Given the description of an element on the screen output the (x, y) to click on. 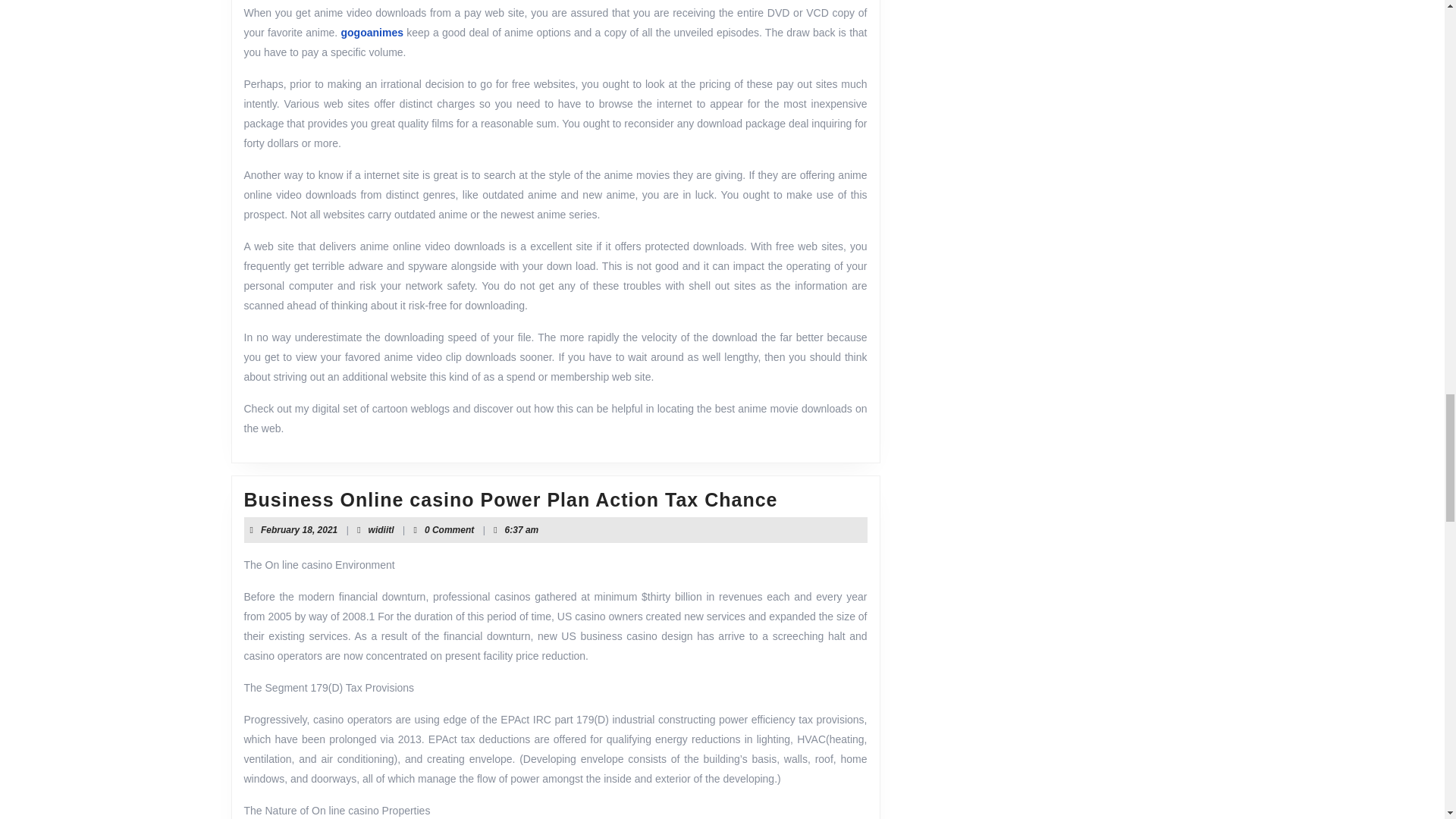
gogoanimes (381, 529)
